Given the description of an element on the screen output the (x, y) to click on. 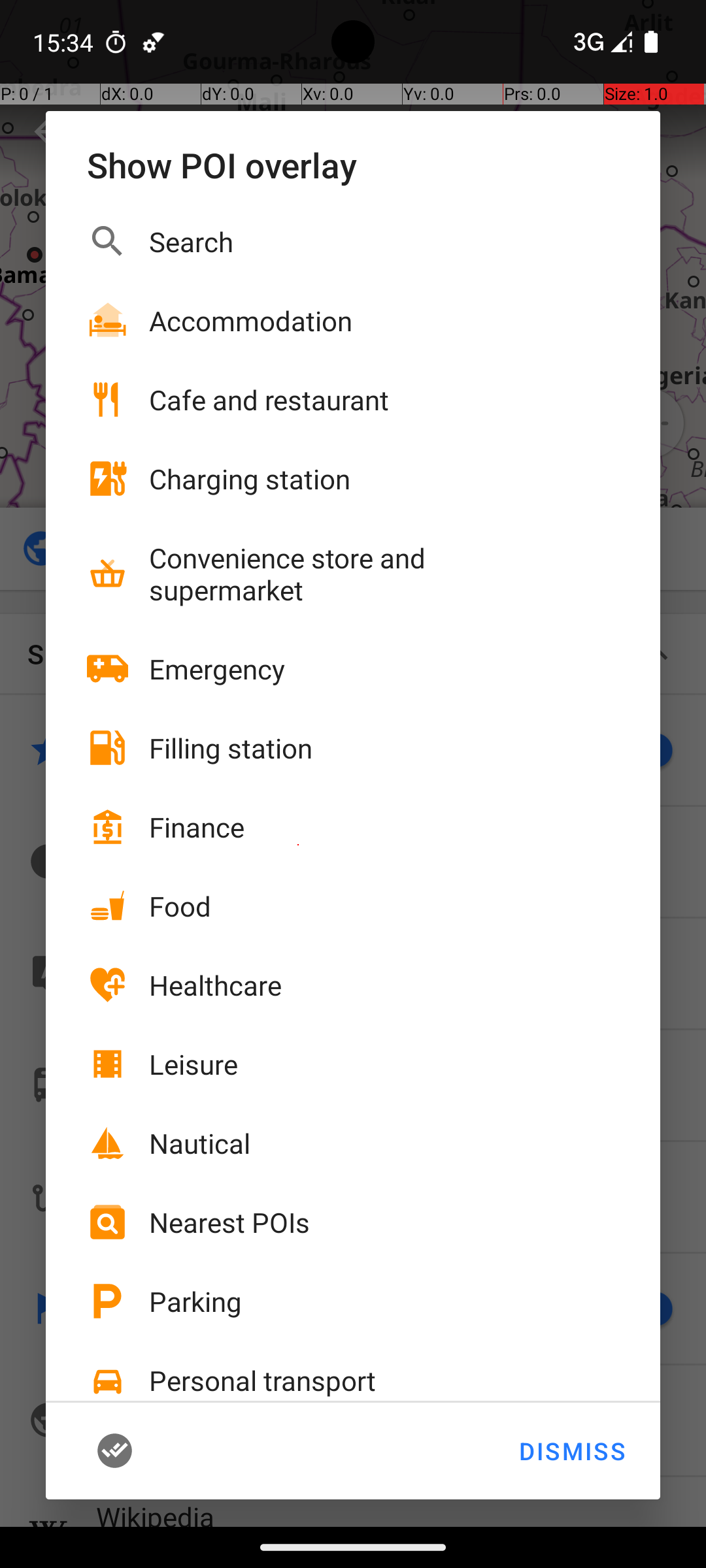
Show POI overlay Element type: android.widget.TextView (352, 164)
  Element type: android.widget.Button (135, 1450)
DISMISS Element type: android.widget.Button (571, 1450)
Accommodation Element type: android.widget.TextView (250, 320)
Cafe and restaurant Element type: android.widget.TextView (269, 399)
Charging station Element type: android.widget.TextView (249, 478)
Convenience store and supermarket Element type: android.widget.TextView (359, 573)
Emergency Element type: android.widget.TextView (217, 668)
Filling station Element type: android.widget.TextView (230, 747)
Healthcare Element type: android.widget.TextView (215, 984)
Leisure Element type: android.widget.TextView (193, 1063)
Nautical Element type: android.widget.TextView (199, 1142)
Nearest POIs Element type: android.widget.TextView (229, 1221)
Parking Element type: android.widget.TextView (195, 1300)
Personal transport Element type: android.widget.TextView (262, 1379)
